Given the description of an element on the screen output the (x, y) to click on. 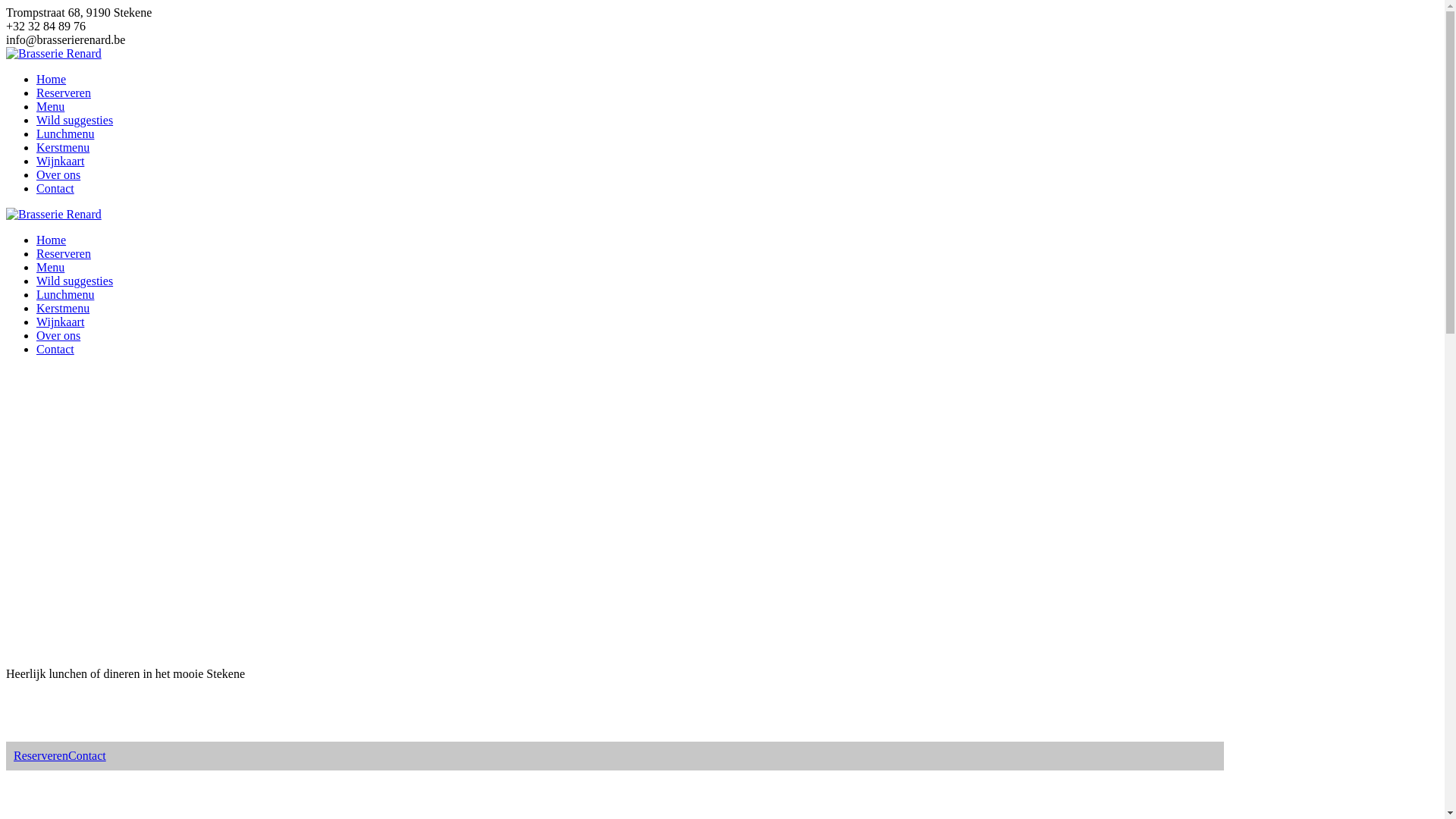
Home Element type: text (50, 239)
Home Element type: text (50, 78)
Over ons Element type: text (58, 174)
Ga naar inhoud Element type: text (5, 5)
Over ons Element type: text (58, 335)
Contact Element type: text (55, 188)
Kerstmenu Element type: text (62, 147)
Reserveren Element type: text (63, 92)
Wijnkaart Element type: text (60, 321)
Contact Element type: text (87, 755)
Lunchmenu Element type: text (65, 133)
Contact Element type: text (55, 348)
Menu Element type: text (50, 266)
Menu Element type: text (50, 106)
Lunchmenu Element type: text (65, 294)
Wild suggesties Element type: text (74, 119)
Reserveren Element type: text (63, 253)
Kerstmenu Element type: text (62, 307)
Wijnkaart Element type: text (60, 160)
Wild suggesties Element type: text (74, 280)
Reserveren Element type: text (40, 755)
